Given the description of an element on the screen output the (x, y) to click on. 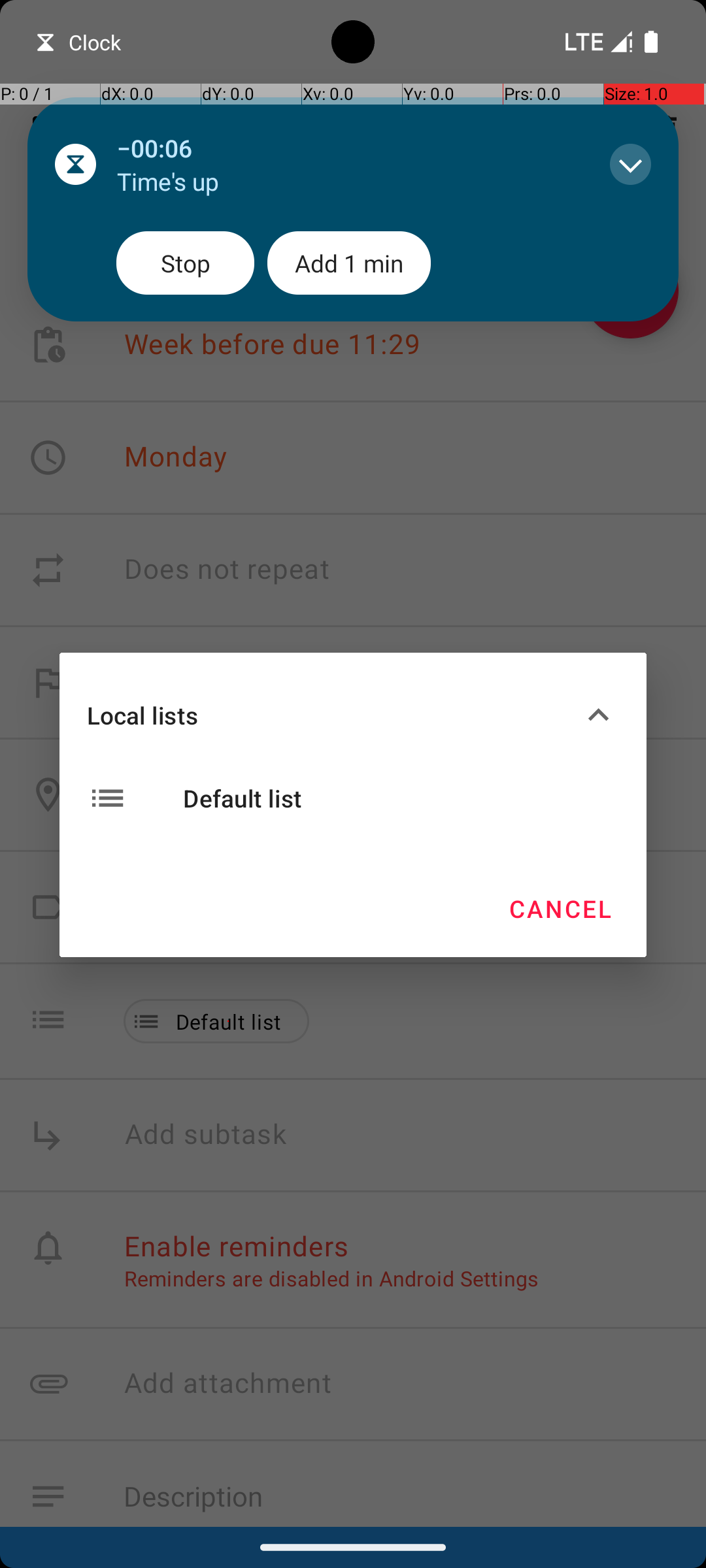
−00:06 Element type: android.widget.Chronometer (349, 147)
Time's up Element type: android.widget.TextView (349, 180)
Add 1 min Element type: android.widget.Button (348, 262)
